Given the description of an element on the screen output the (x, y) to click on. 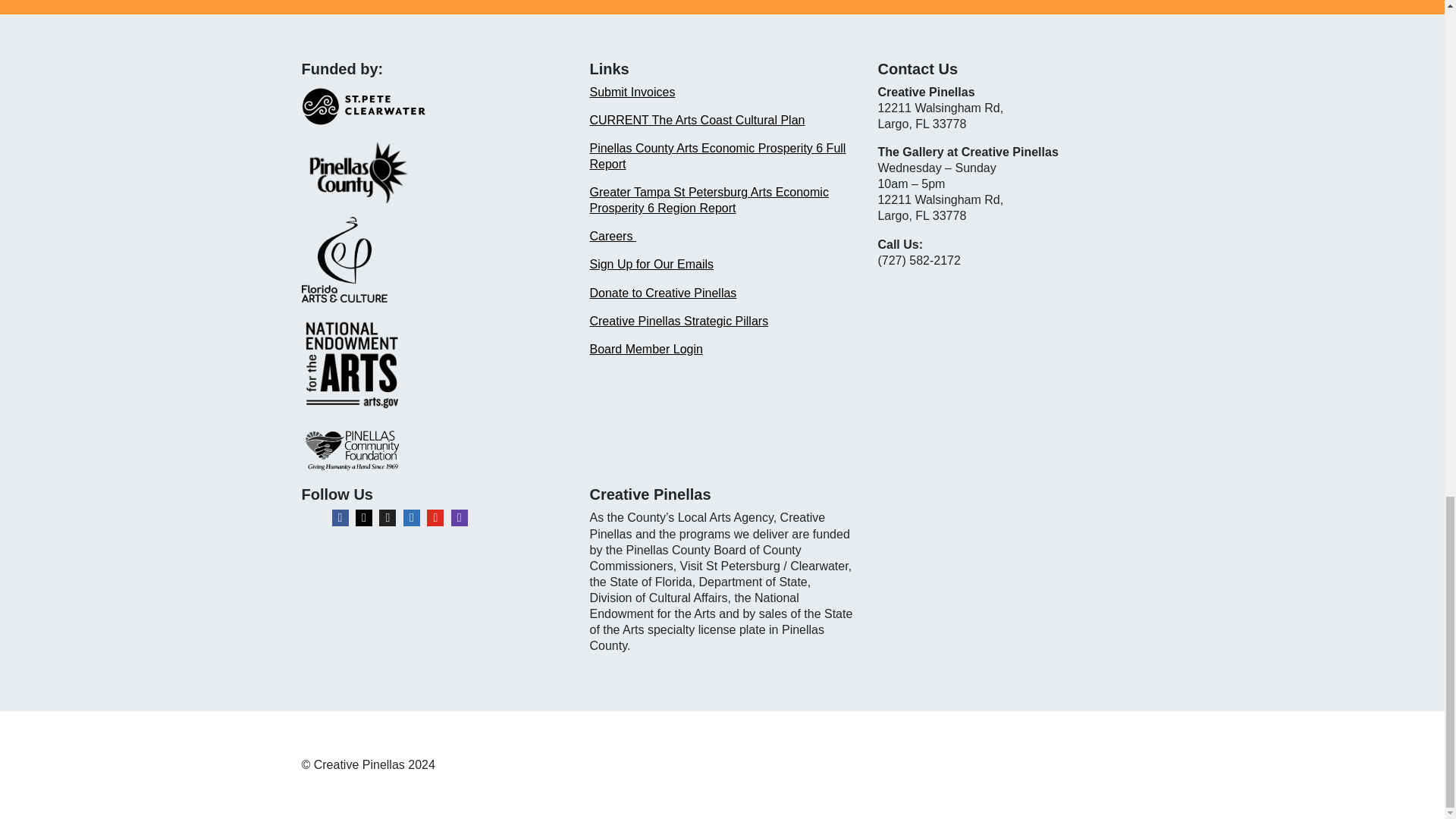
Board Member Login (645, 349)
Instagram (363, 517)
Careers  (611, 236)
Submit Invoices (632, 91)
Creative Pinellas Strategic Pillars (678, 320)
Facebook (340, 517)
Linkedin (411, 517)
CURRENT The Arts Coast Cultural Plan (697, 119)
Twitch (459, 517)
Arts Economic Prosperity 6 Region Report (708, 199)
